Given the description of an element on the screen output the (x, y) to click on. 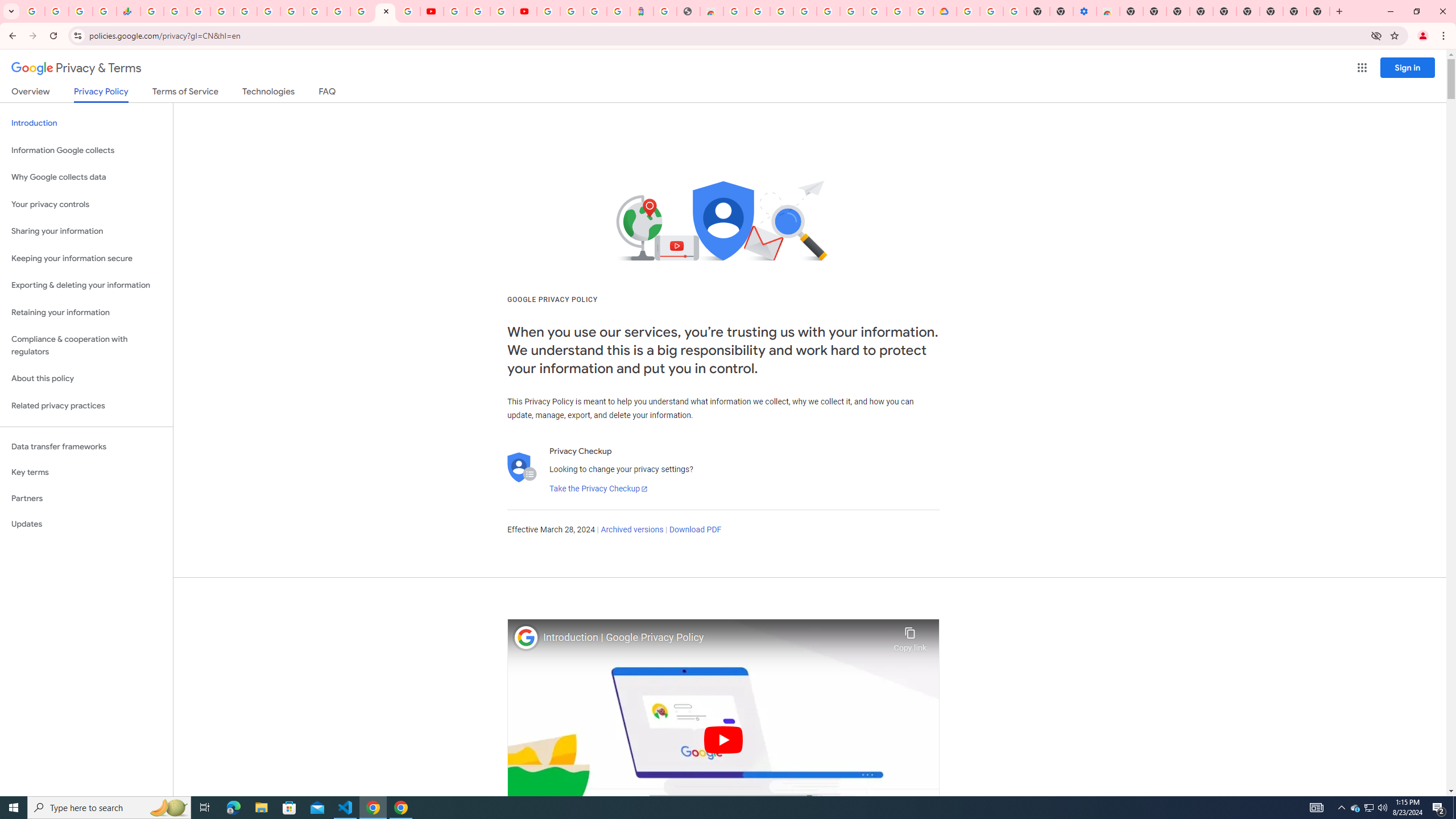
Archived versions (631, 529)
Ad Settings (804, 11)
Google Account Help (850, 11)
Google Workspace Admin Community (32, 11)
Google Account Help (478, 11)
YouTube (454, 11)
